Given the description of an element on the screen output the (x, y) to click on. 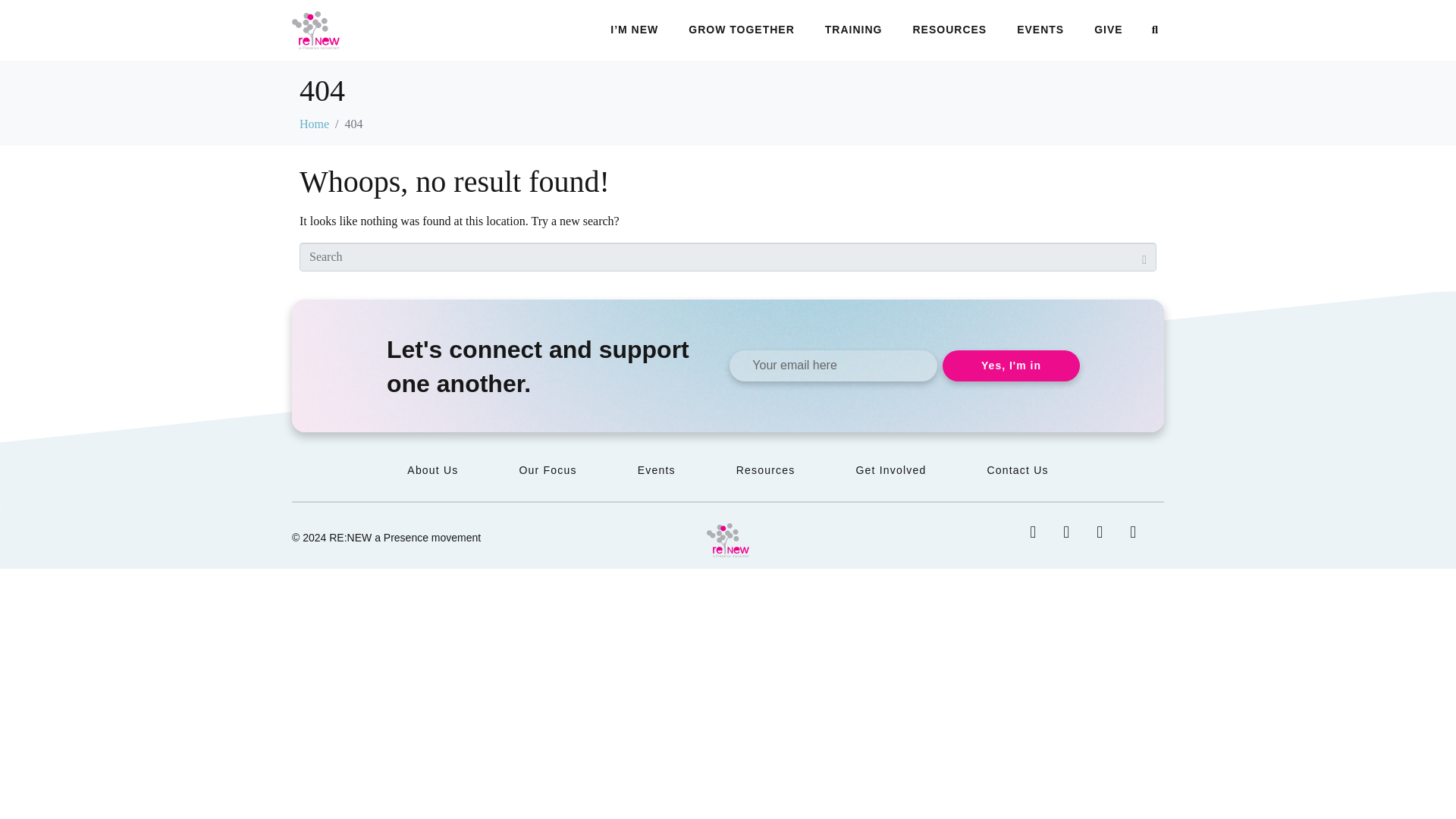
RESOURCES (949, 29)
GROW TOGETHER (741, 29)
TRAINING (853, 29)
EVENTS (1040, 29)
GIVE (1108, 29)
